Given the description of an element on the screen output the (x, y) to click on. 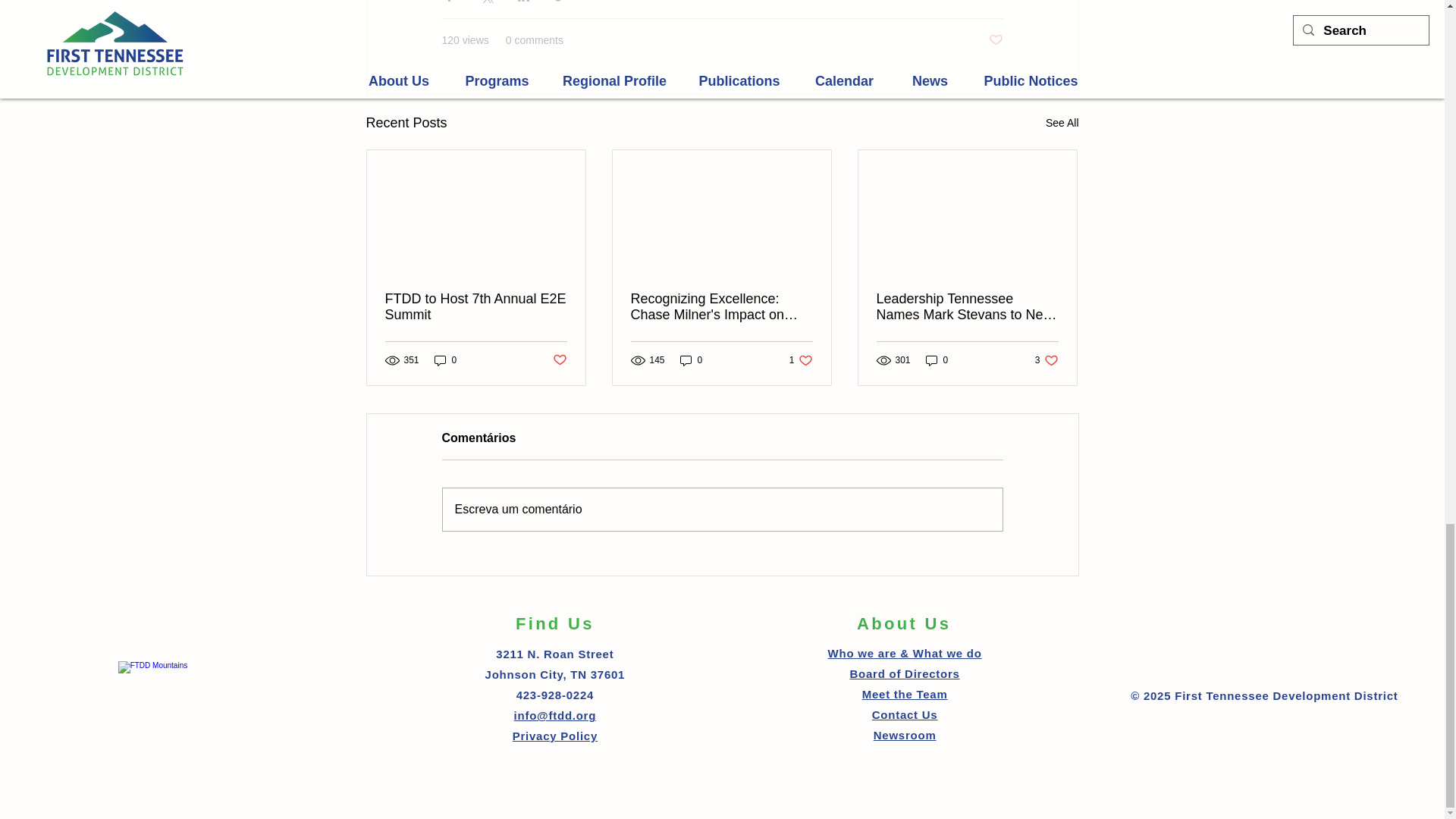
FTDD Favicon (189, 679)
